Given the description of an element on the screen output the (x, y) to click on. 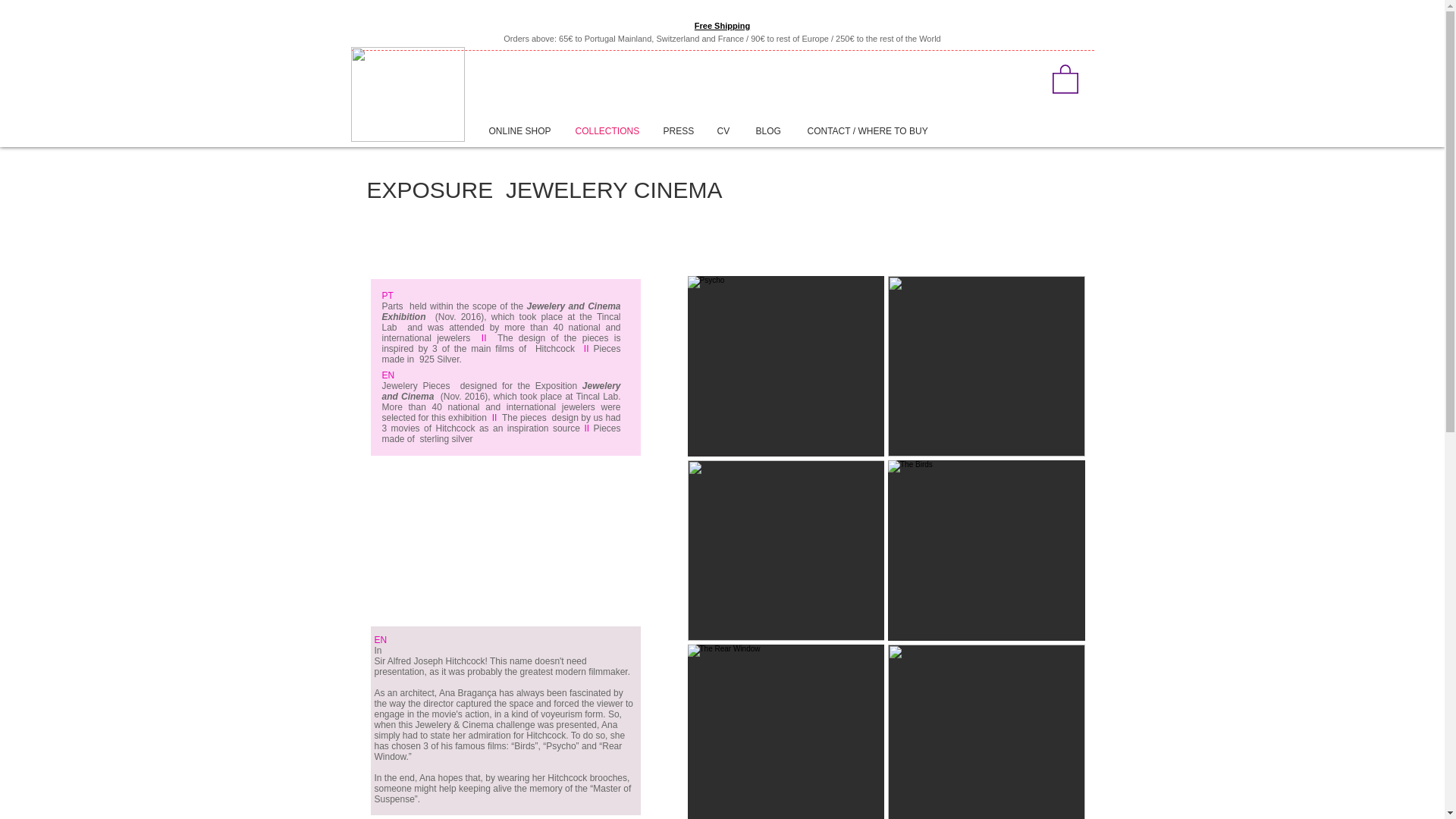
PRESS (682, 131)
Free Shipping (721, 25)
CV (729, 131)
BLOG (773, 131)
ONLINE SHOP (523, 131)
COLLECTIONS (611, 131)
